Given the description of an element on the screen output the (x, y) to click on. 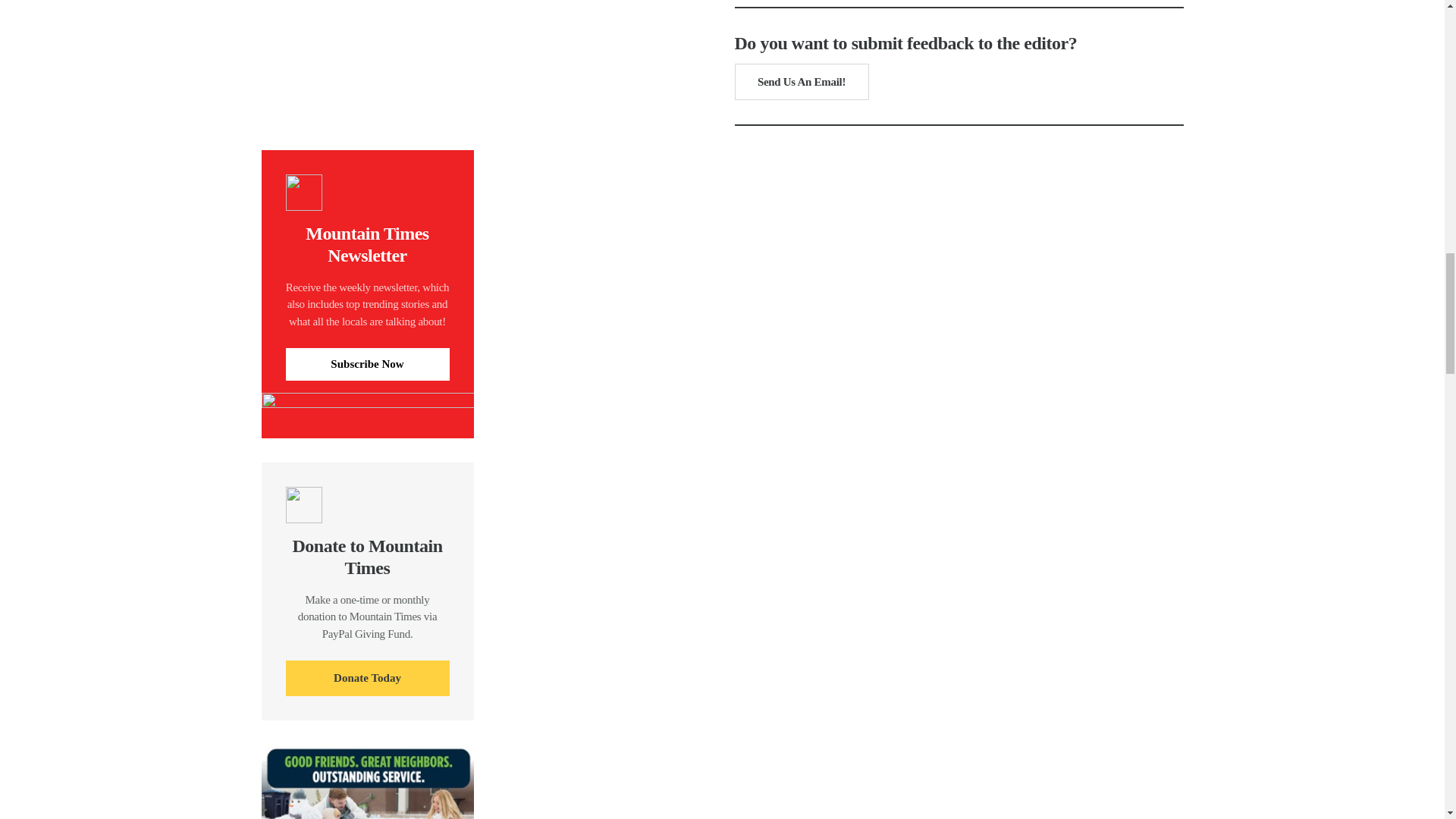
Subscribe Now (366, 364)
Send Us An Email! (800, 81)
Donate Today (366, 678)
